Given the description of an element on the screen output the (x, y) to click on. 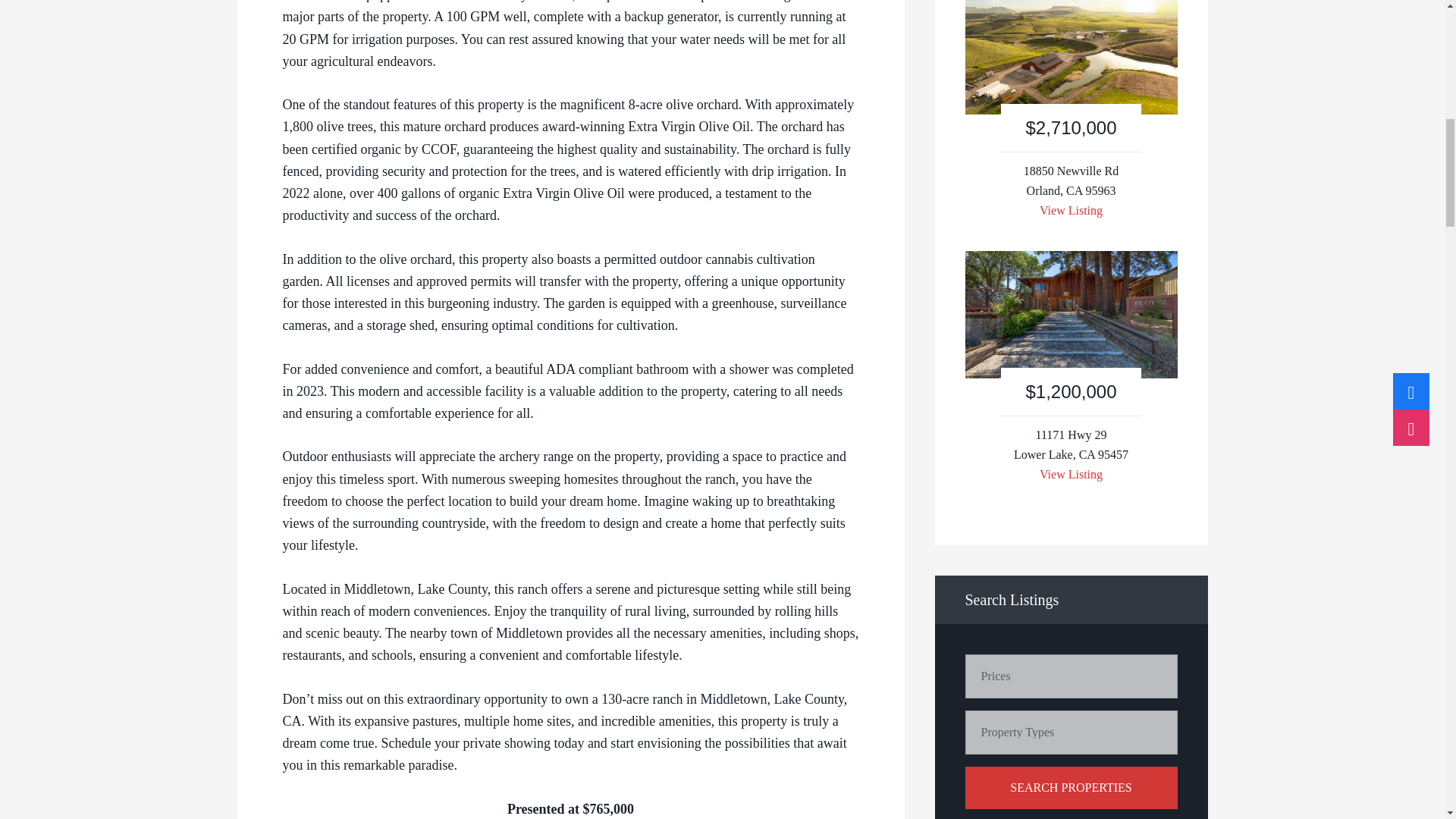
Search Properties (1069, 787)
Search Properties (1069, 787)
